Given the description of an element on the screen output the (x, y) to click on. 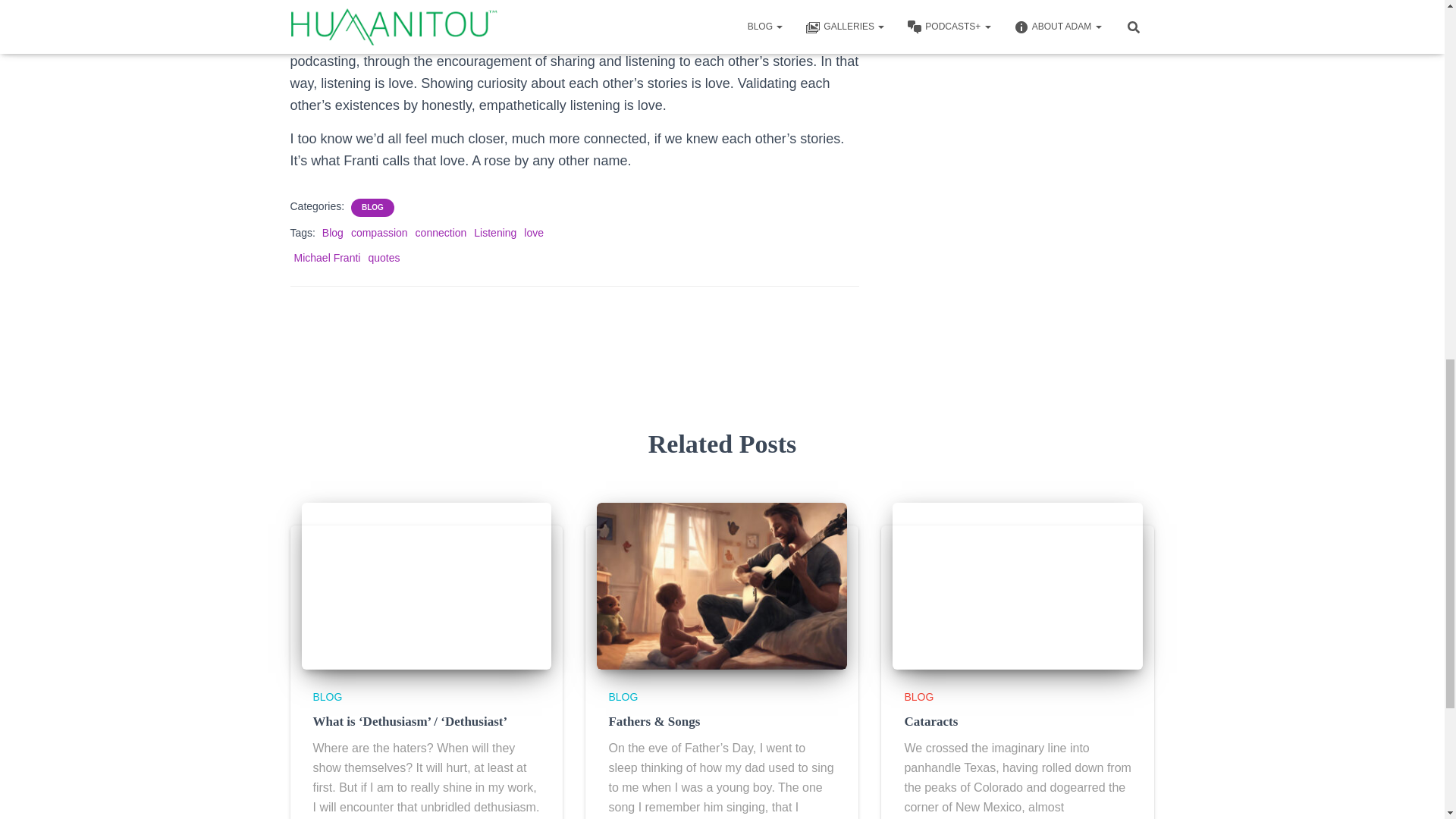
Listening (495, 232)
Michael Franti (327, 257)
connection (440, 232)
compassion (378, 232)
BLOG (372, 207)
love (533, 232)
quotes (383, 257)
BLOG (327, 696)
Blog (332, 232)
